Given the description of an element on the screen output the (x, y) to click on. 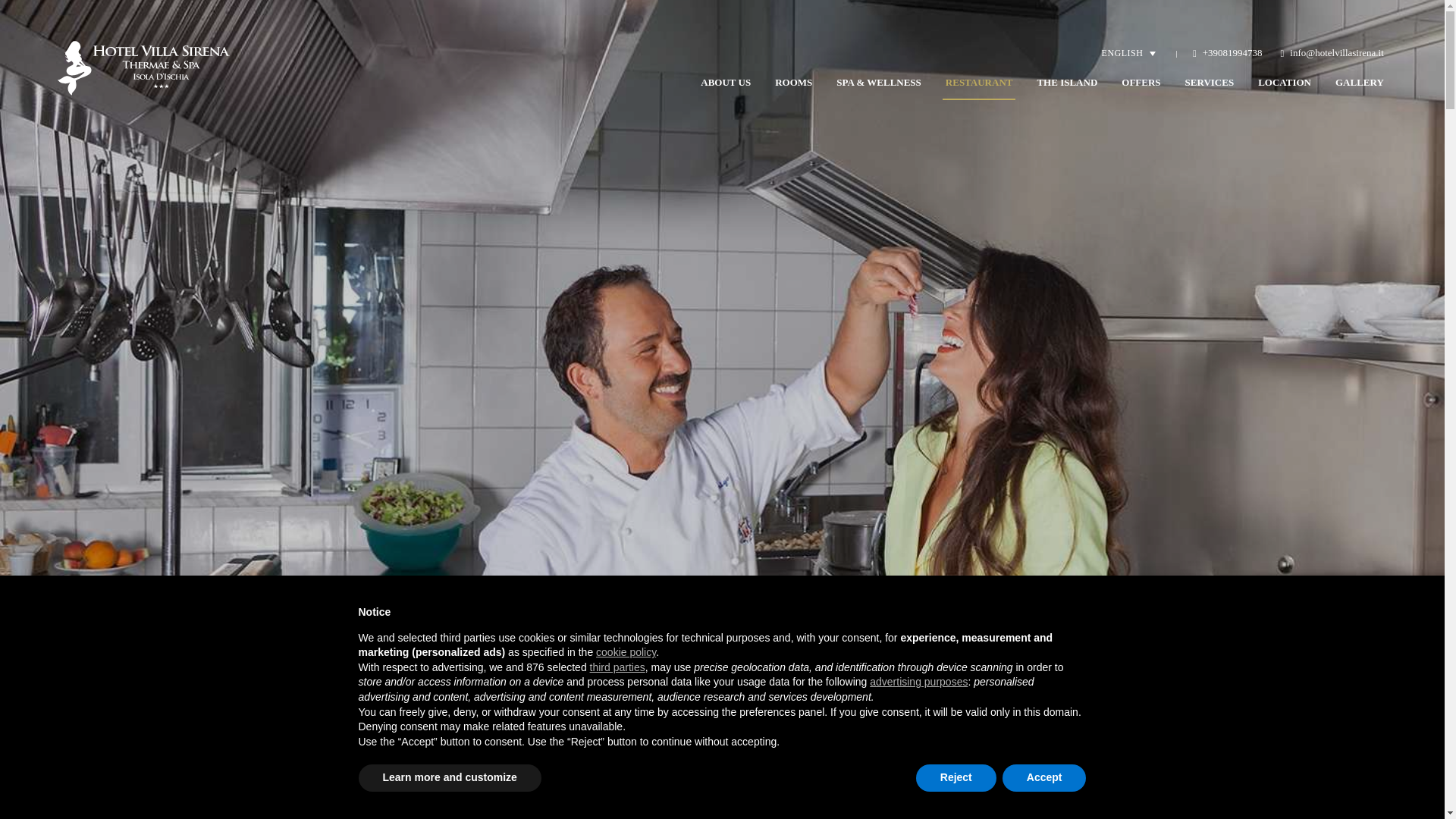
mail (1332, 52)
tel (1227, 52)
ABOUT US (725, 82)
WRITE US (1055, 799)
ROOMS (793, 82)
Check availability (888, 799)
SERVICES (1209, 82)
GALLERY (1359, 82)
RESTAURANT (979, 82)
OFFERS (1140, 82)
THE ISLAND (1066, 82)
ENGLISH (1128, 53)
Check availability (888, 799)
LOCATION (1284, 82)
